Given the description of an element on the screen output the (x, y) to click on. 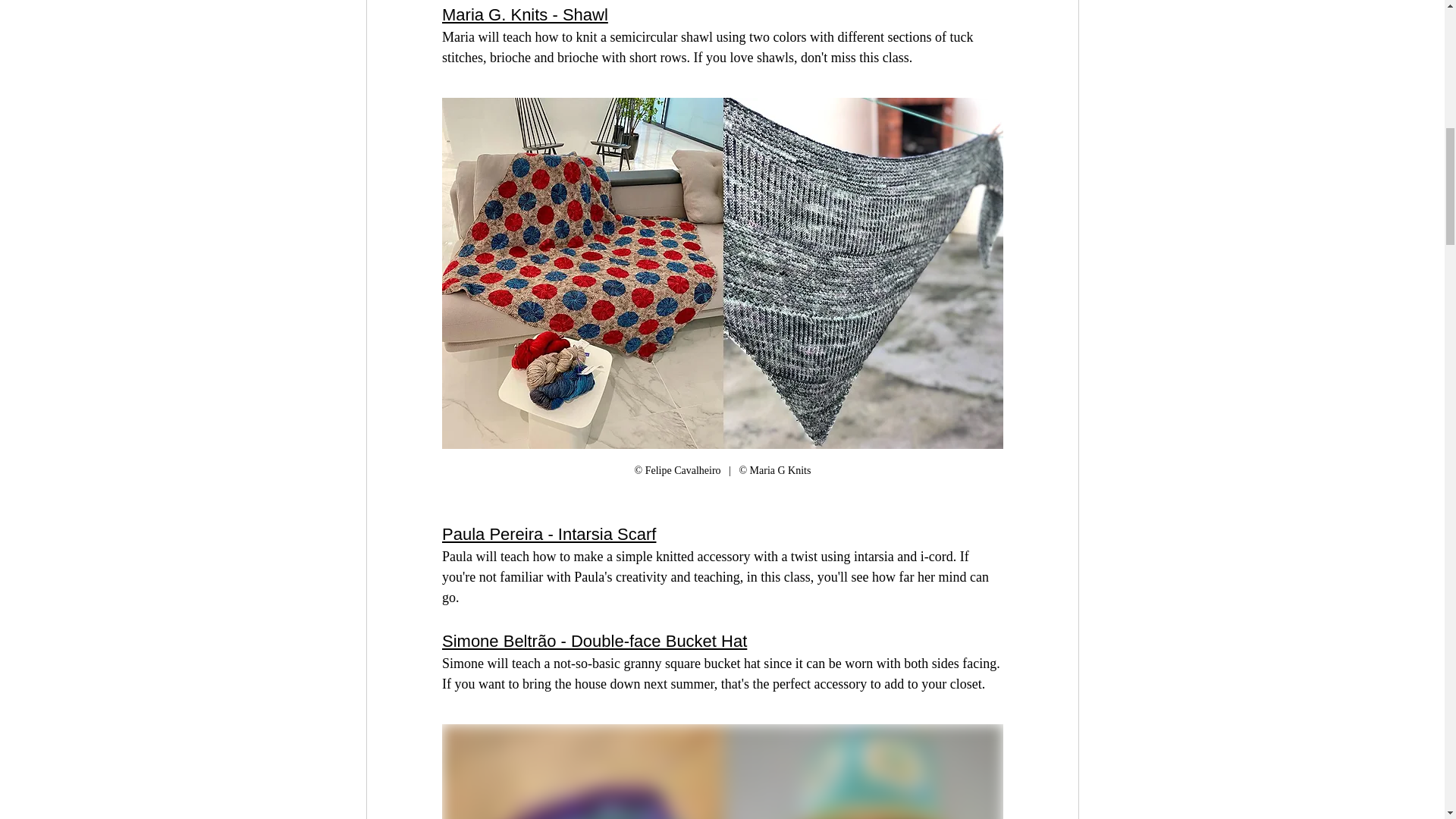
Paula Pereira - Intarsia Scarf (548, 533)
Maria G. Knits - Shawl (524, 14)
